Given the description of an element on the screen output the (x, y) to click on. 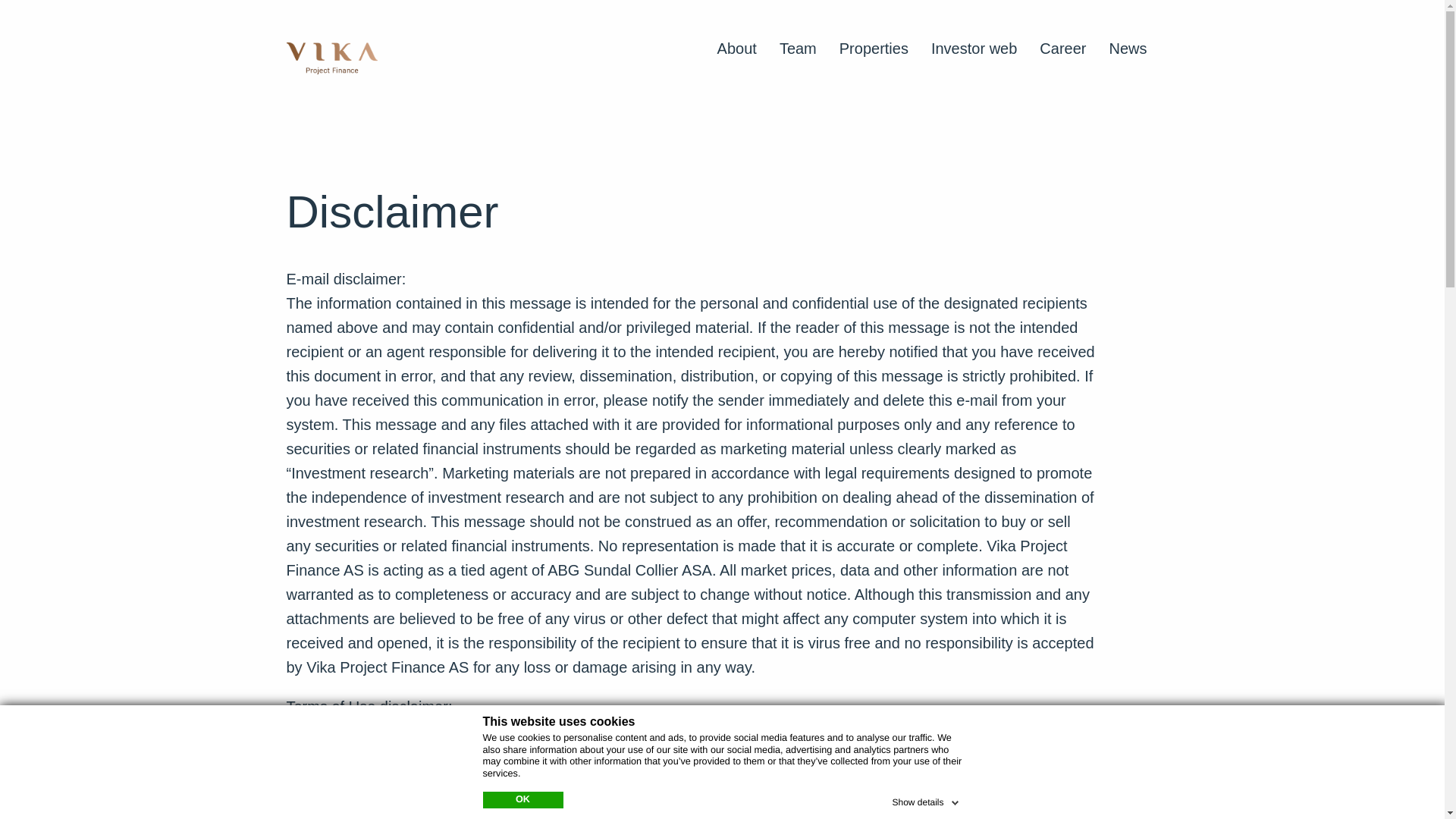
Team (798, 45)
Career (1062, 45)
Show details (925, 799)
Properties (874, 45)
About (737, 45)
OK (521, 799)
Investor web (973, 45)
News (1127, 45)
